Given the description of an element on the screen output the (x, y) to click on. 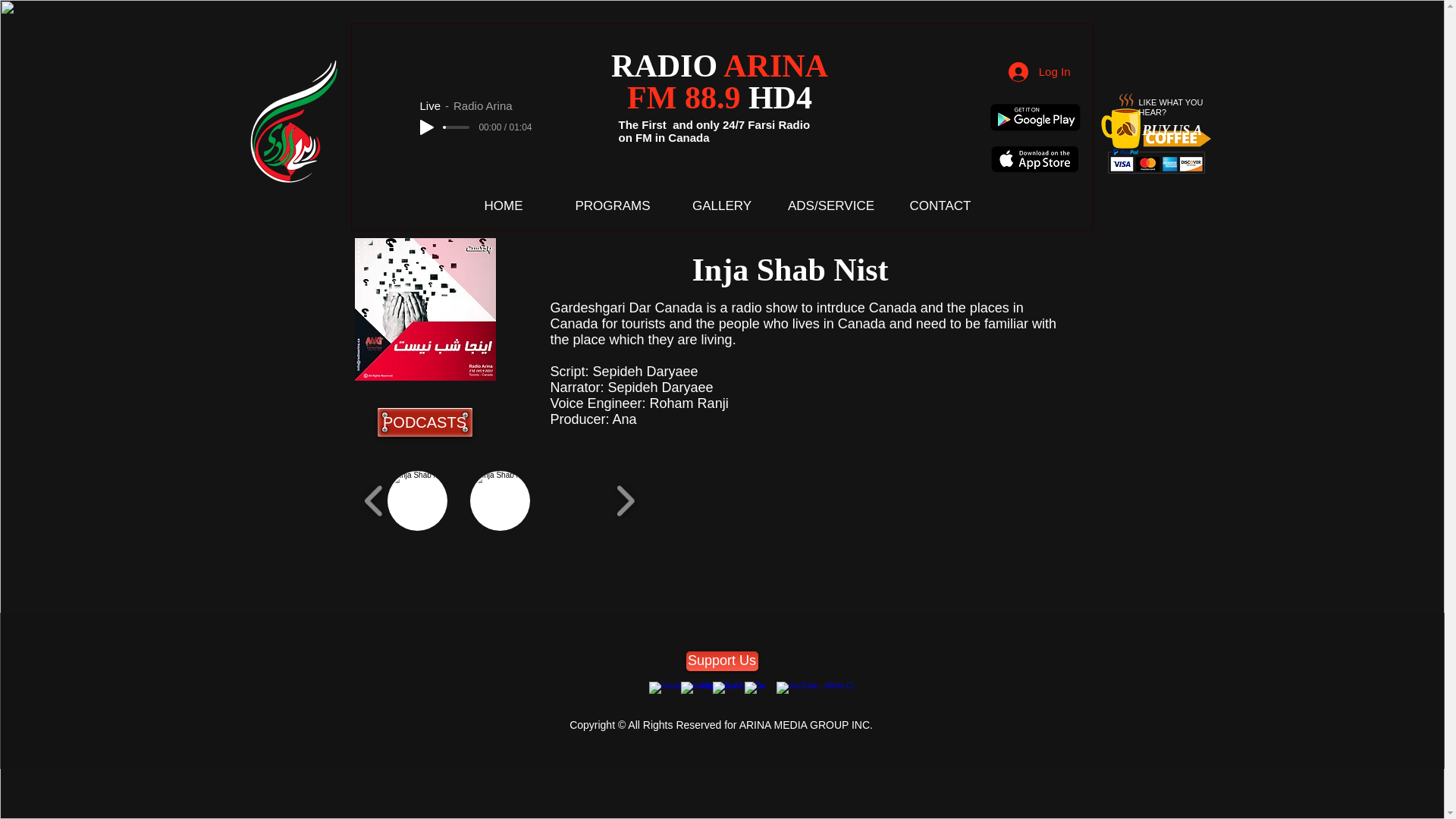
RADIO ARINA (719, 65)
PODCASTS (424, 421)
Support Us (721, 660)
HOME (502, 206)
PROGRAMS (611, 206)
FM 88.9 HD4 (719, 97)
CONTACT (939, 206)
GALLERY (721, 206)
Log In (1039, 71)
0 (457, 127)
